Given the description of an element on the screen output the (x, y) to click on. 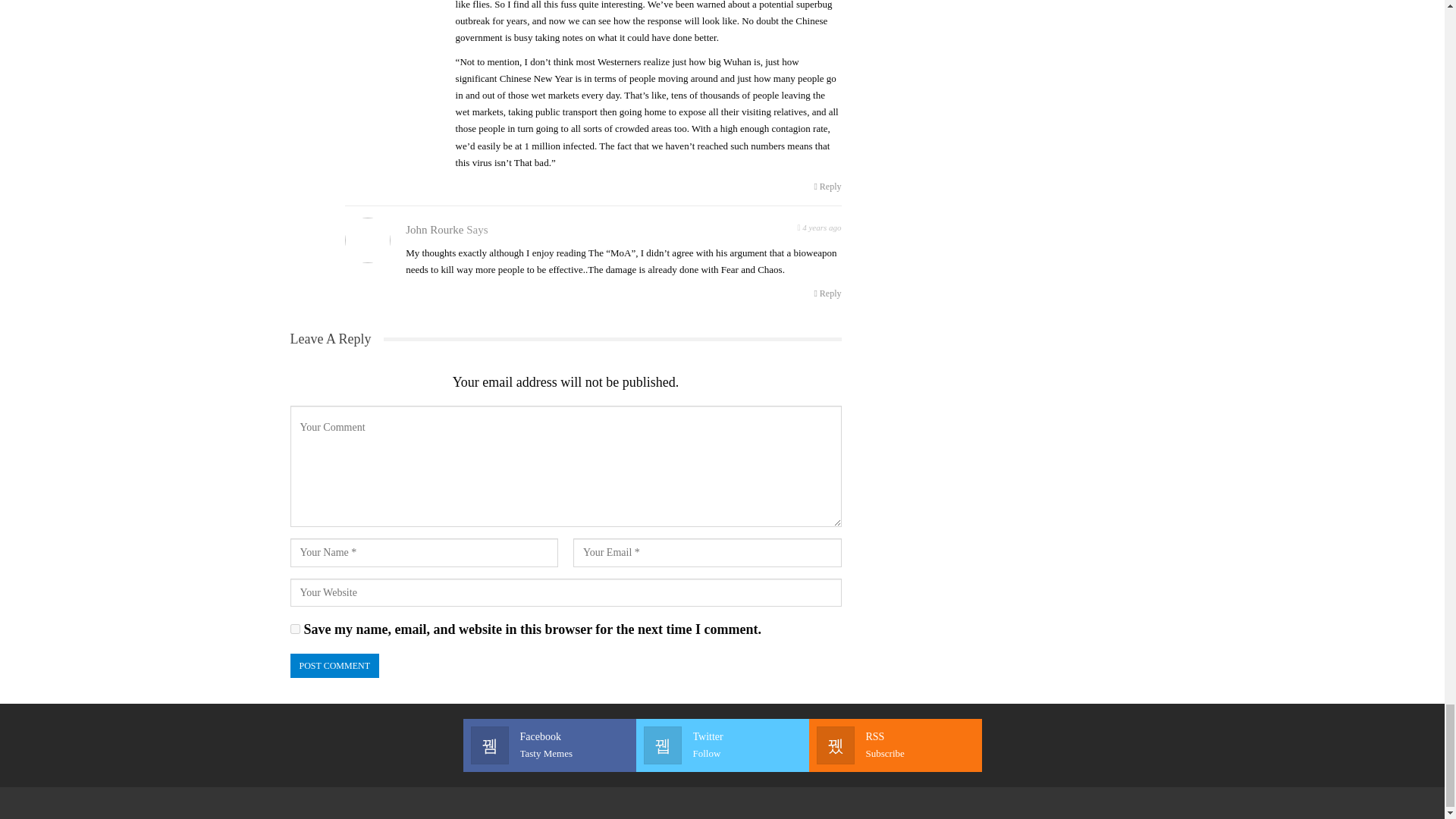
Thursday, December 31, 2020, 11:10 am (818, 226)
Post Comment (333, 665)
yes (294, 628)
